Given the description of an element on the screen output the (x, y) to click on. 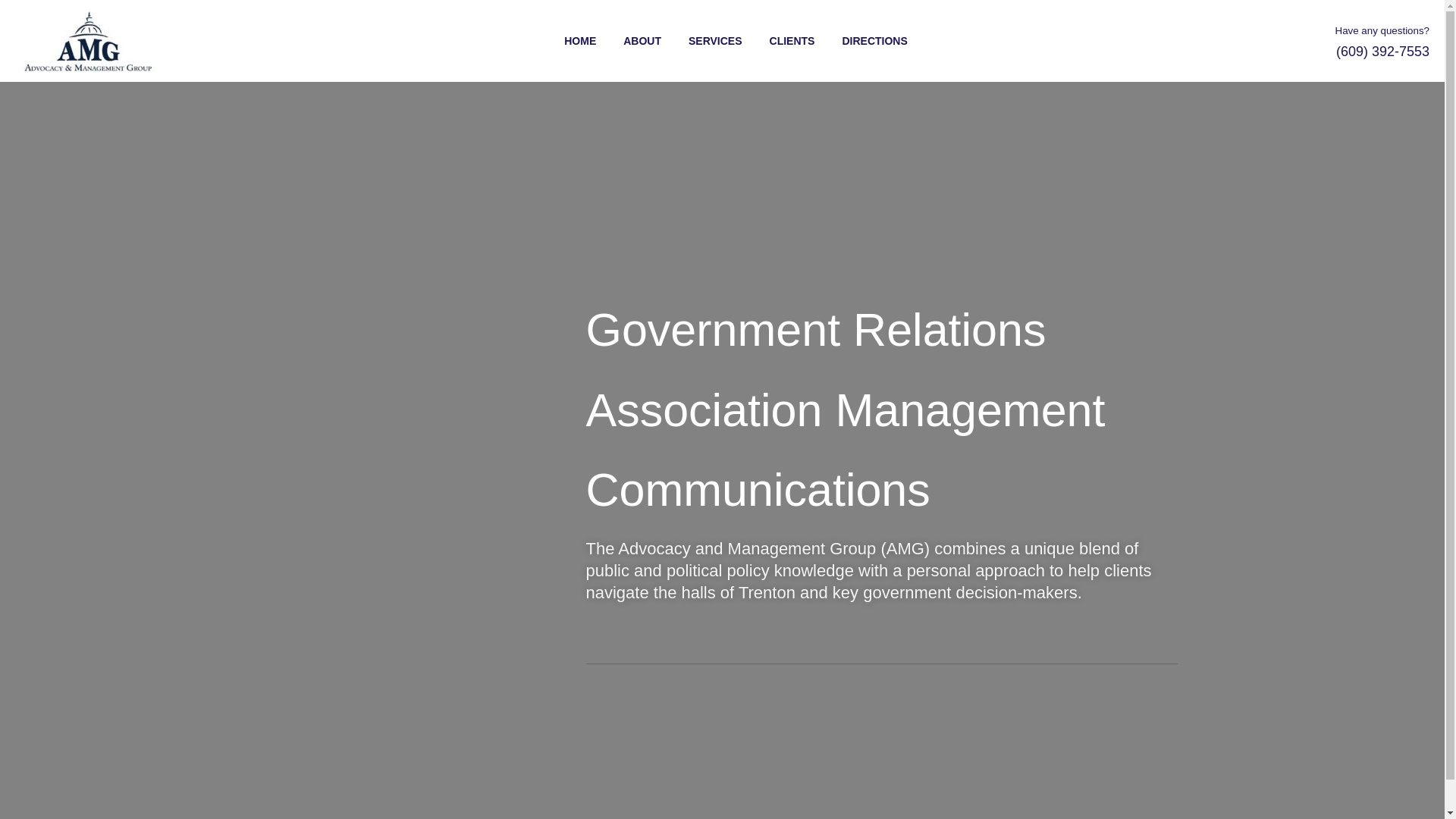
CLIENTS (778, 41)
DIRECTIONS (860, 41)
SERVICES (701, 41)
ABOUT (628, 41)
HOME (566, 41)
